Given the description of an element on the screen output the (x, y) to click on. 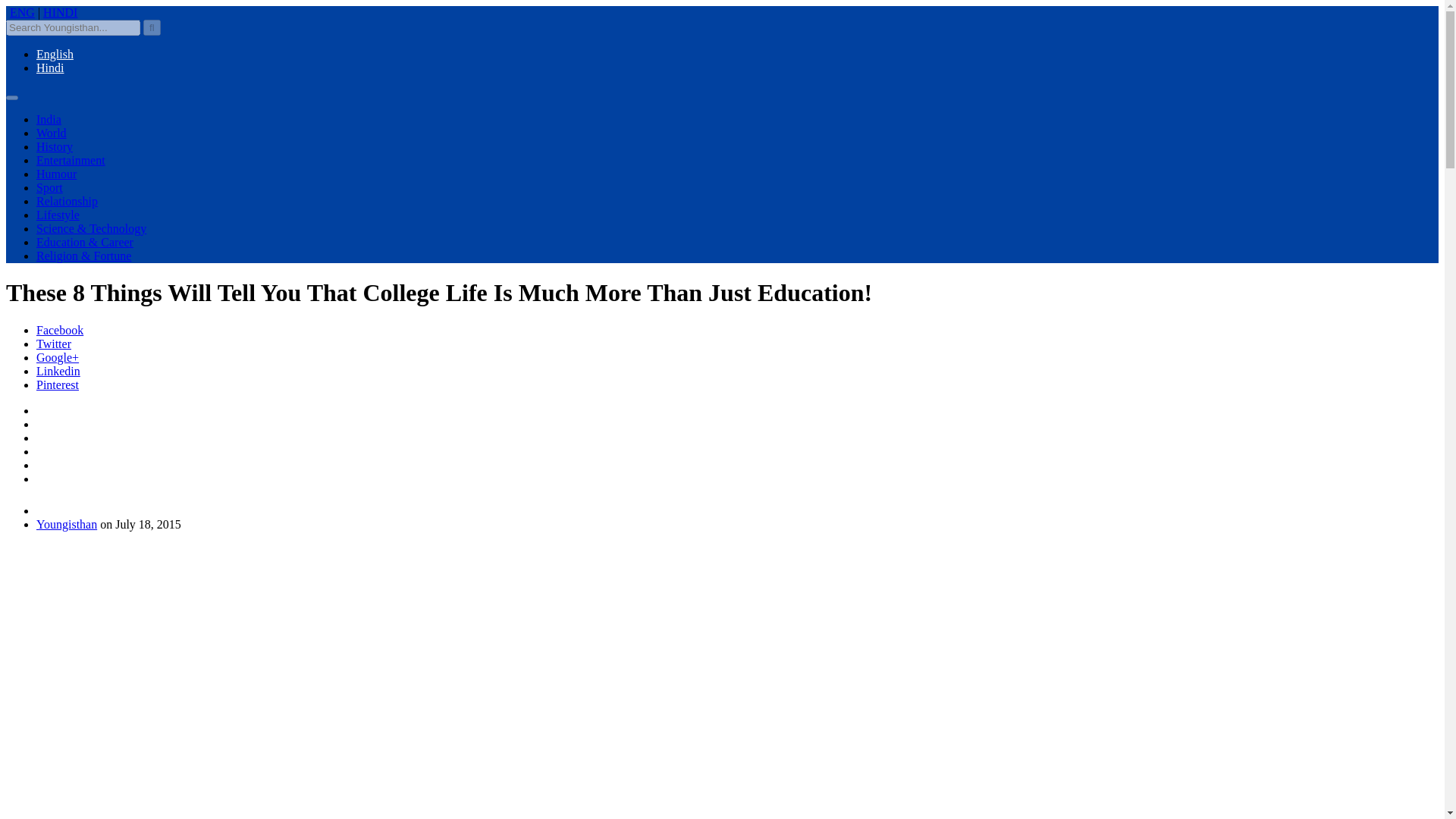
World (51, 132)
Twitter (53, 343)
Relationship (66, 201)
India (48, 119)
Linkedin (58, 370)
Sport (49, 187)
Lifestyle (58, 214)
Posts by Youngisthan (66, 523)
History (54, 146)
ENG (22, 11)
Facebook (59, 329)
Entertainment (70, 160)
HINDI (60, 11)
Youngisthan (66, 523)
Pinterest (57, 384)
